Given the description of an element on the screen output the (x, y) to click on. 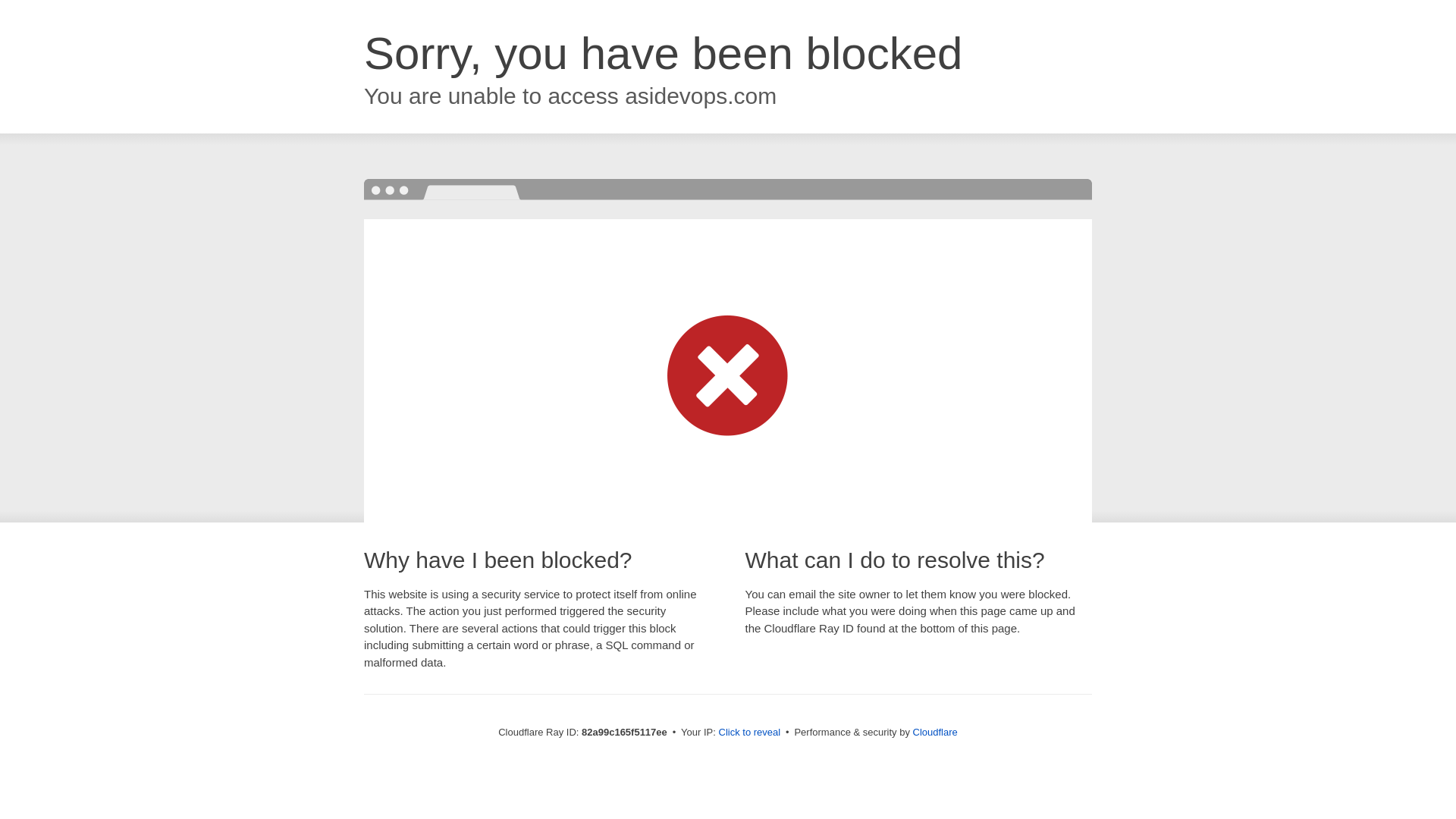
Cloudflare Element type: text (935, 731)
Click to reveal Element type: text (749, 732)
